Given the description of an element on the screen output the (x, y) to click on. 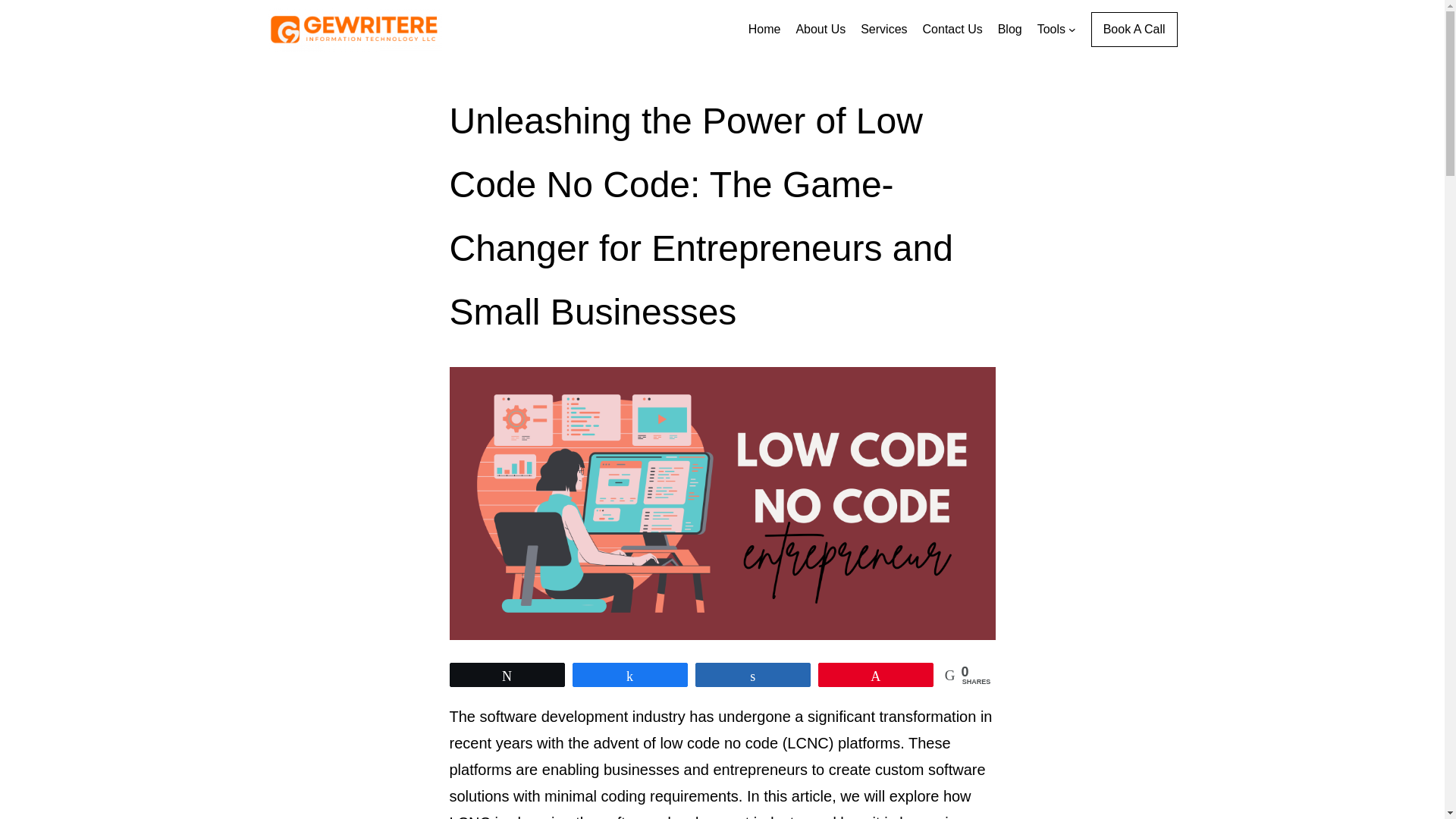
Services (883, 29)
Home (764, 29)
About Us (819, 29)
Blog Title Generator (1050, 29)
Tools (1050, 29)
Contact Us (952, 29)
Book A Call (1133, 29)
Blog (1009, 29)
